Given the description of an element on the screen output the (x, y) to click on. 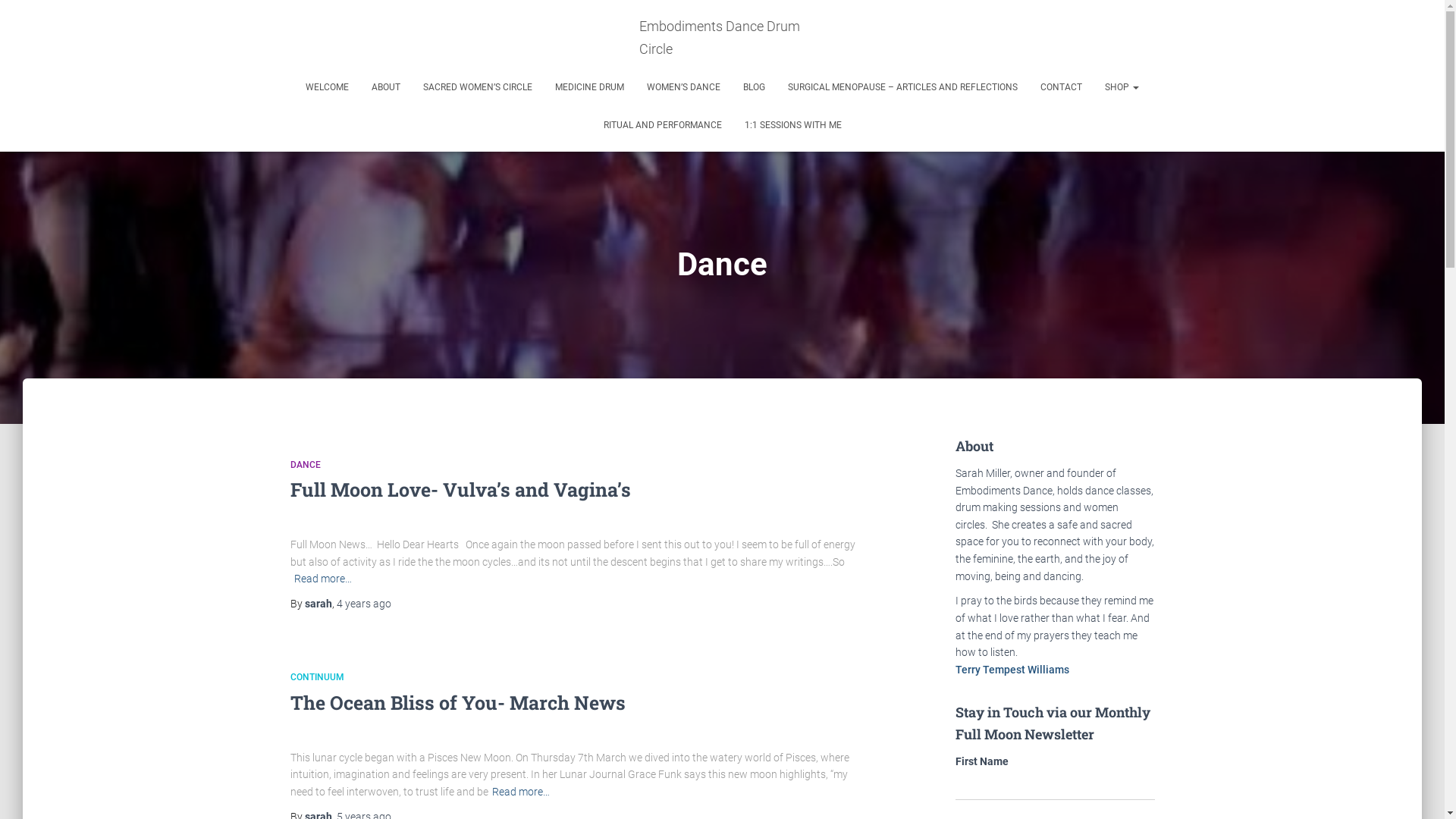
BLOG Element type: text (753, 87)
WELCOME Element type: text (327, 87)
CONTACT Element type: text (1061, 87)
SHOP Element type: text (1121, 87)
1:1 SESSIONS WITH ME Element type: text (792, 125)
The Ocean Bliss of You- March News Element type: text (456, 702)
CONTINUUM Element type: text (316, 676)
MEDICINE DRUM Element type: text (589, 87)
Terry Tempest Williams Element type: text (1012, 669)
4 years ago Element type: text (363, 603)
Embodiments Dance Drum Circle Element type: text (722, 37)
ABOUT Element type: text (385, 87)
sarah Element type: text (318, 603)
RITUAL AND PERFORMANCE Element type: text (661, 125)
DANCE Element type: text (304, 464)
